Given the description of an element on the screen output the (x, y) to click on. 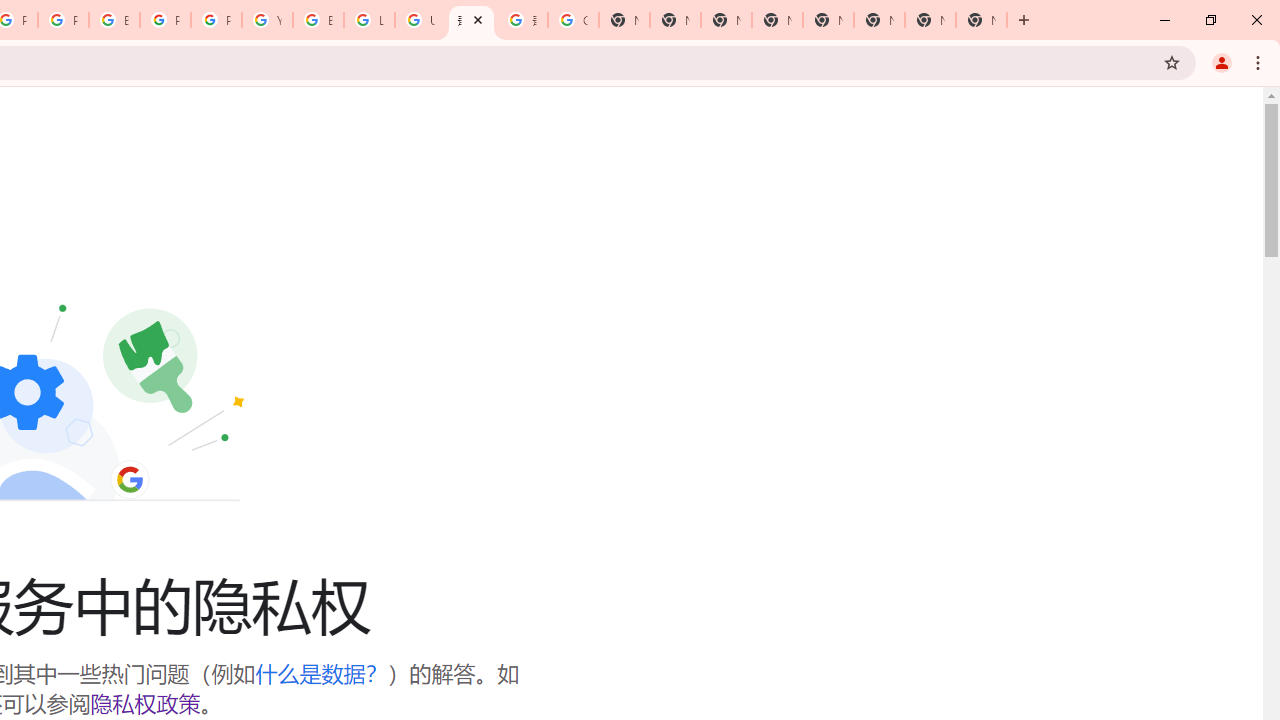
Privacy Help Center - Policies Help (63, 20)
YouTube (267, 20)
Google Images (573, 20)
